Given the description of an element on the screen output the (x, y) to click on. 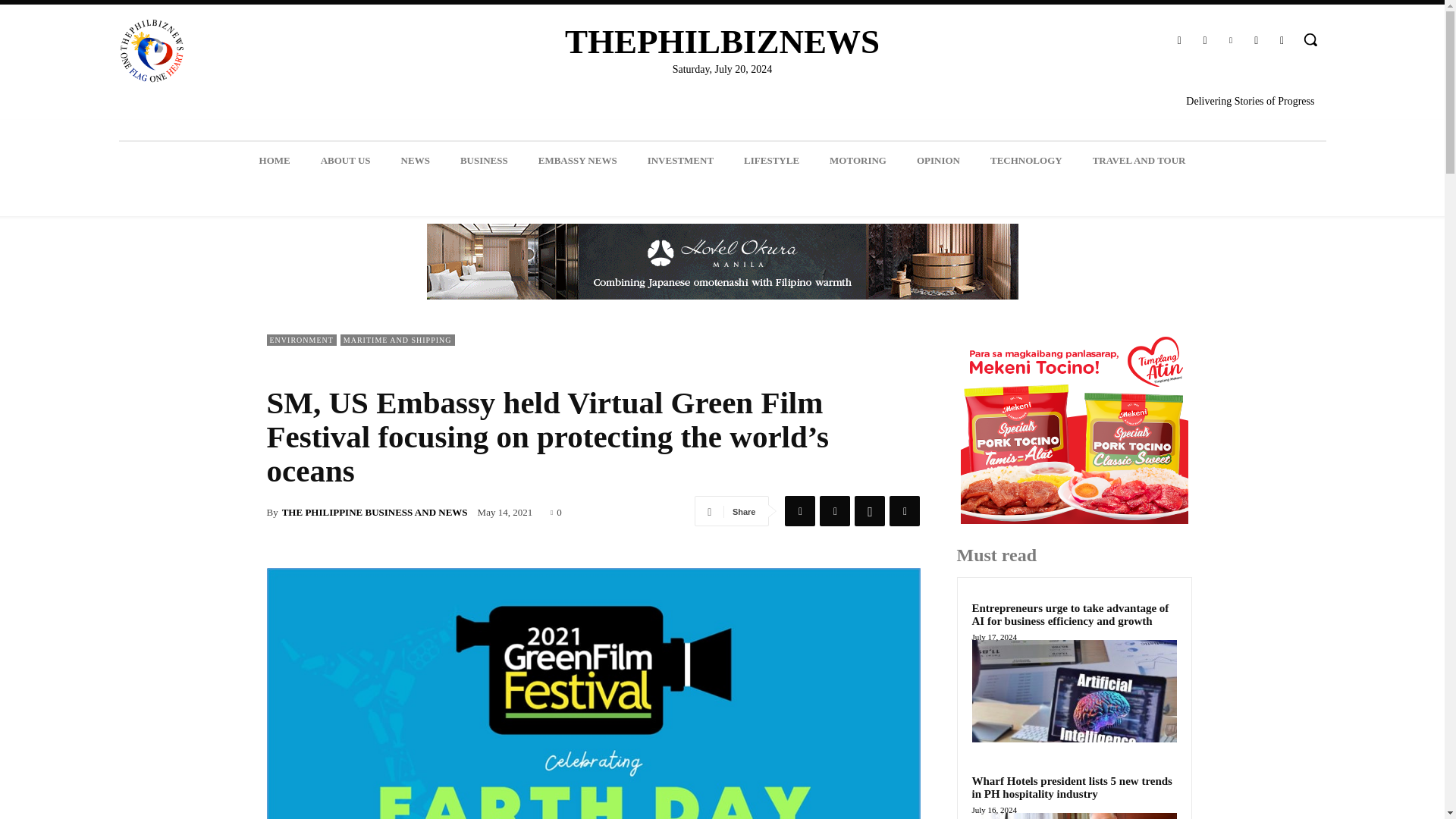
INVESTMENT (680, 160)
TECHNOLOGY (1026, 160)
Linkedin (1230, 40)
MOTORING (857, 160)
THEPHILBIZNEWS (721, 42)
HOME (274, 160)
EMBASSY NEWS (576, 160)
Youtube (1281, 40)
Facebook (799, 511)
OPINION (938, 160)
ABOUT US (345, 160)
Twitter (834, 511)
Facebook (1179, 40)
Linkedin (904, 511)
NEWS (415, 160)
